Given the description of an element on the screen output the (x, y) to click on. 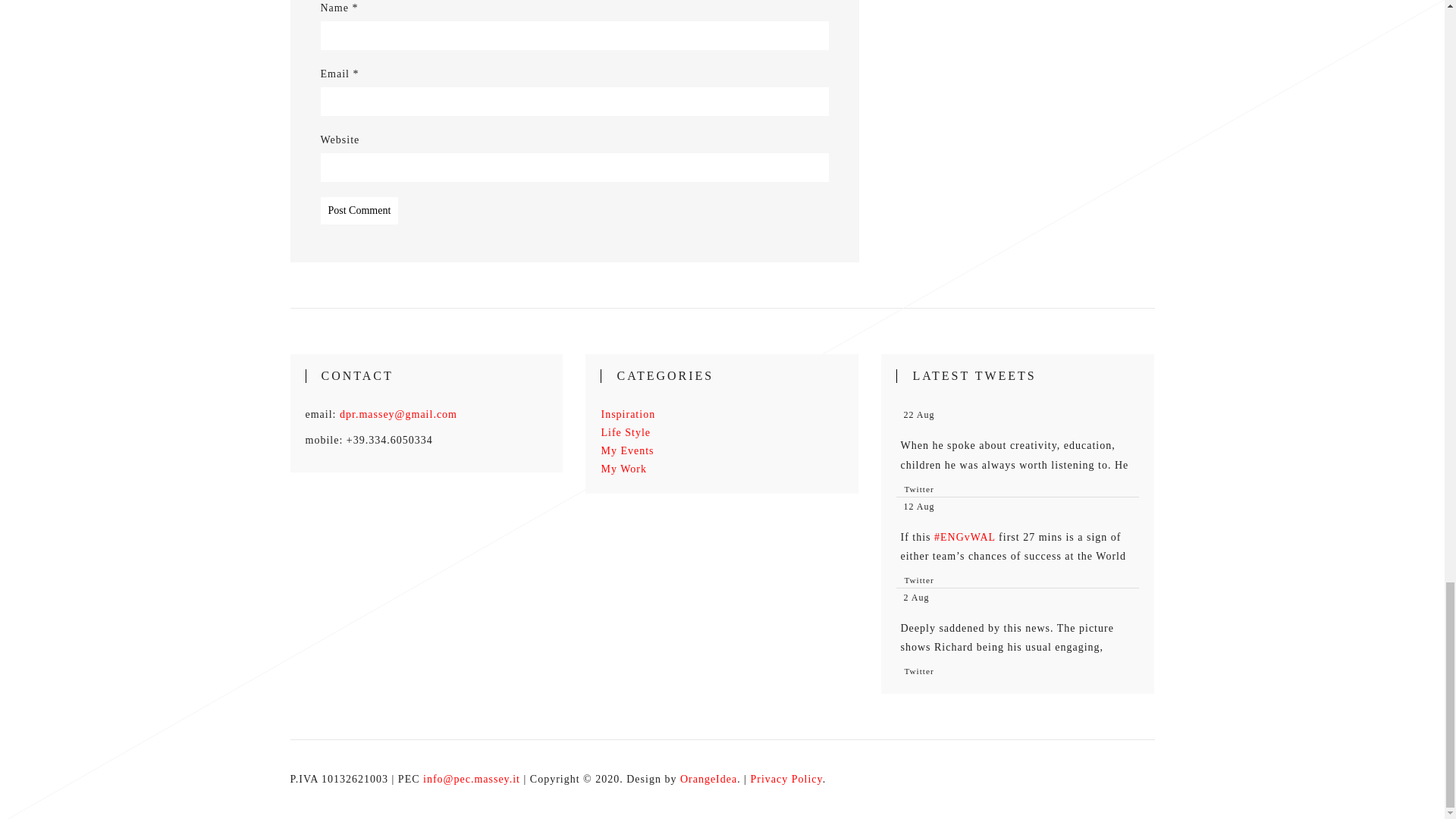
Life Style (624, 432)
Post Comment (358, 210)
Post Comment (358, 210)
Inspiration (627, 414)
My Events (626, 450)
